Given the description of an element on the screen output the (x, y) to click on. 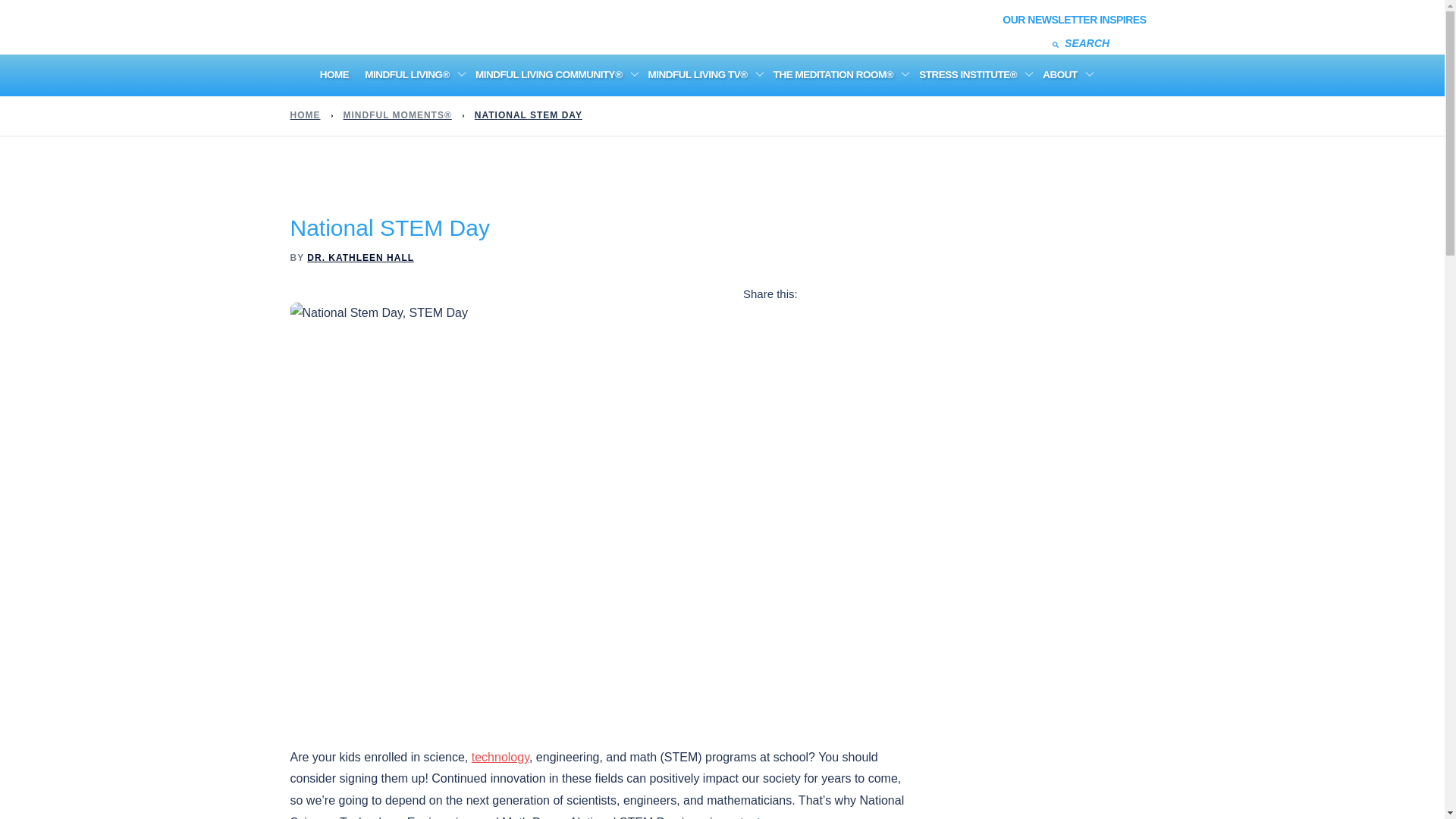
SEARCH (1008, 43)
OUR NEWSLETTER INSPIRES (1075, 19)
HOME (334, 75)
